Given the description of an element on the screen output the (x, y) to click on. 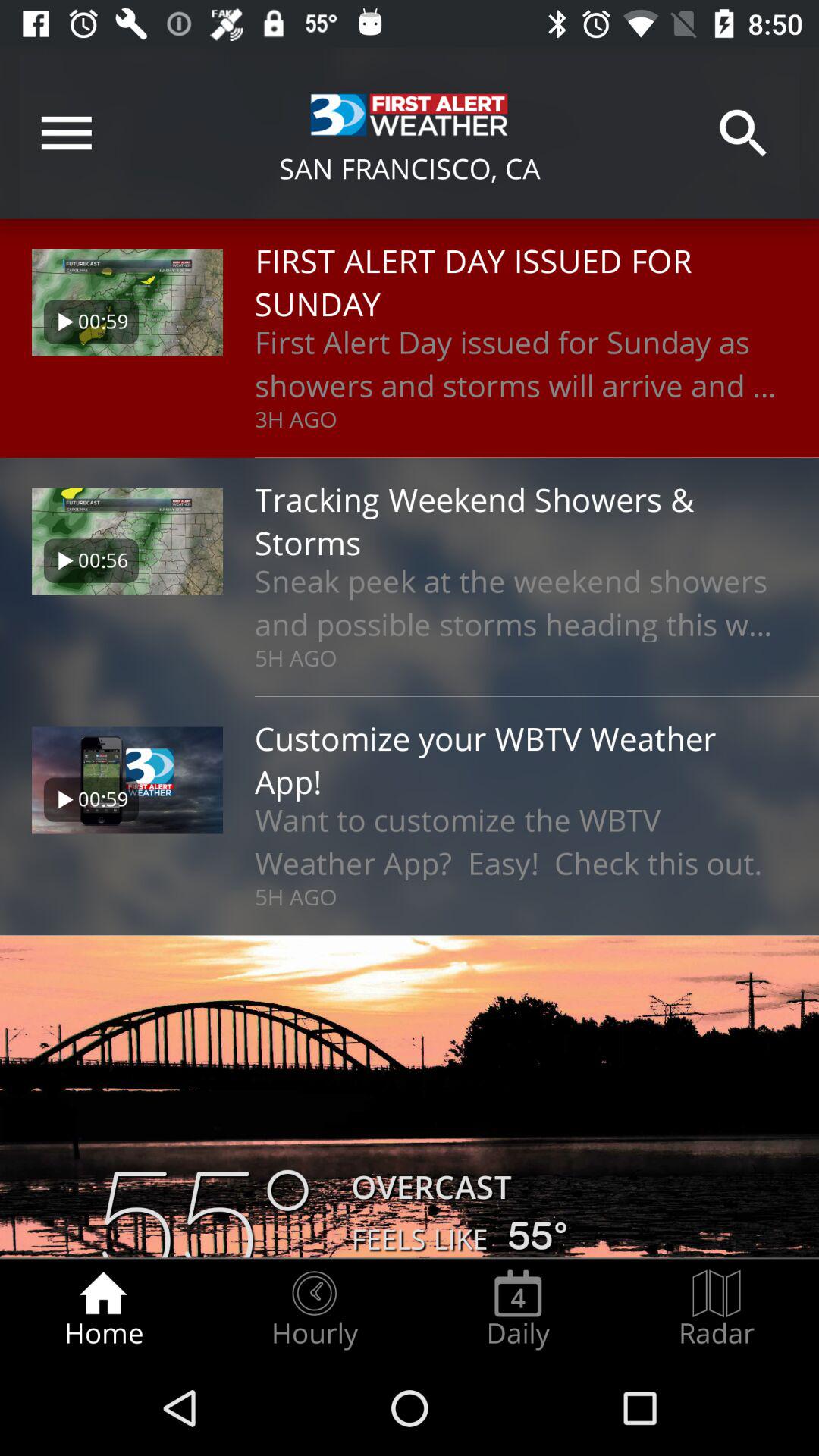
click radio button next to the home (314, 1309)
